Given the description of an element on the screen output the (x, y) to click on. 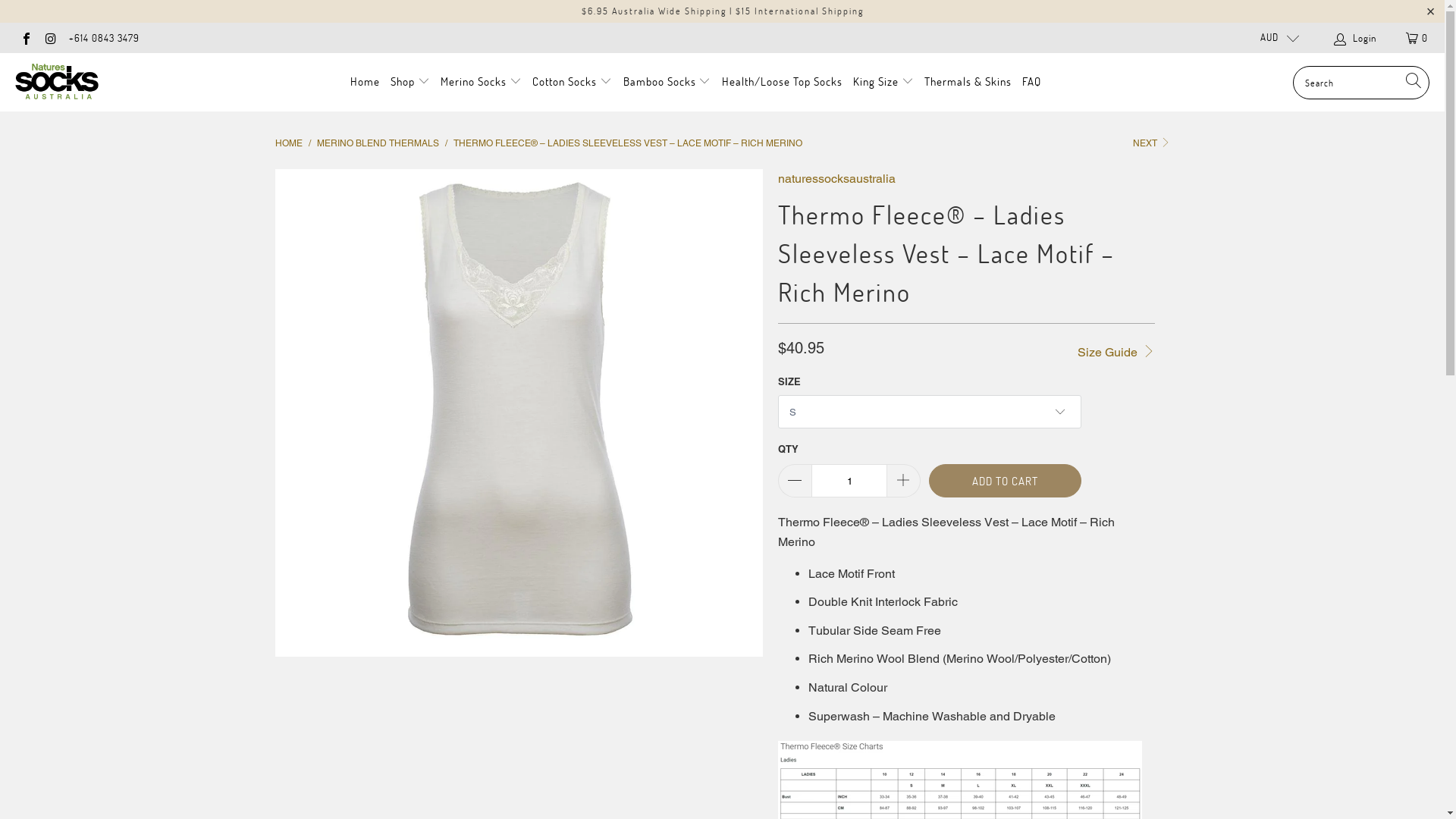
naturessocksaustralia on Instagram Element type: hover (49, 37)
naturessocksaustralia Element type: text (836, 178)
Health/Loose Top Socks Element type: text (781, 81)
ADD TO CART Element type: text (1004, 480)
Merino Socks Element type: text (480, 81)
Home Element type: text (364, 81)
Thermals & Skins Element type: text (967, 81)
Login Element type: text (1356, 37)
Cotton Socks Element type: text (571, 81)
MERINO BLEND THERMALS Element type: text (377, 143)
Size Guide Element type: text (1115, 350)
AUD Element type: text (1273, 37)
HOME Element type: text (287, 143)
King Size Element type: text (883, 81)
0 Element type: text (1417, 37)
Bamboo Socks Element type: text (667, 81)
NEXT Element type: text (1151, 143)
FAQ Element type: text (1031, 81)
naturessocksaustralia Element type: hover (56, 81)
+614 0843 3479 Element type: text (104, 37)
Shop Element type: text (409, 81)
naturessocksaustralia on Facebook Element type: hover (25, 37)
